Given the description of an element on the screen output the (x, y) to click on. 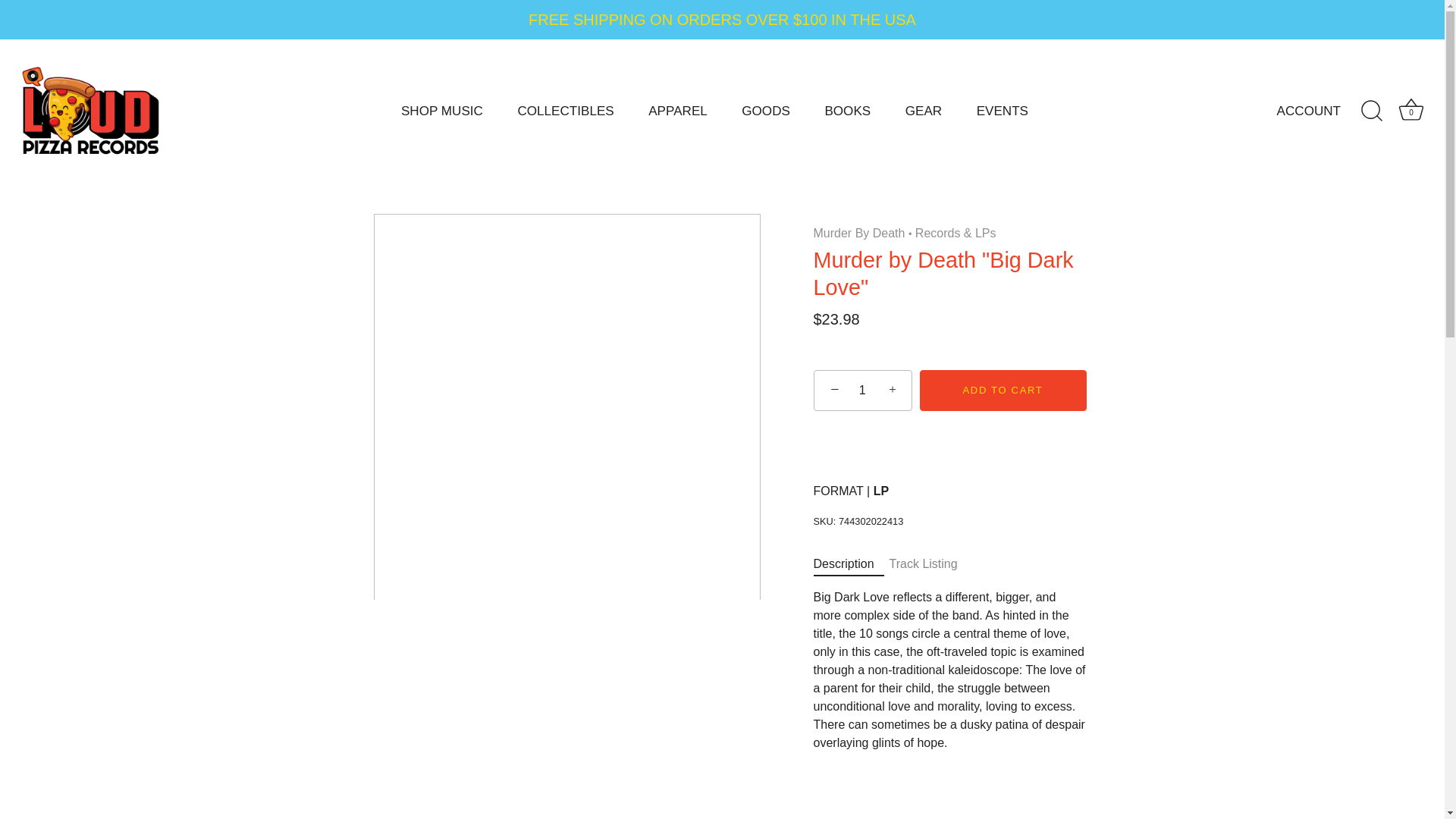
COLLECTIBLES (565, 110)
SHOP MUSIC (441, 110)
Basket (1410, 109)
